Given the description of an element on the screen output the (x, y) to click on. 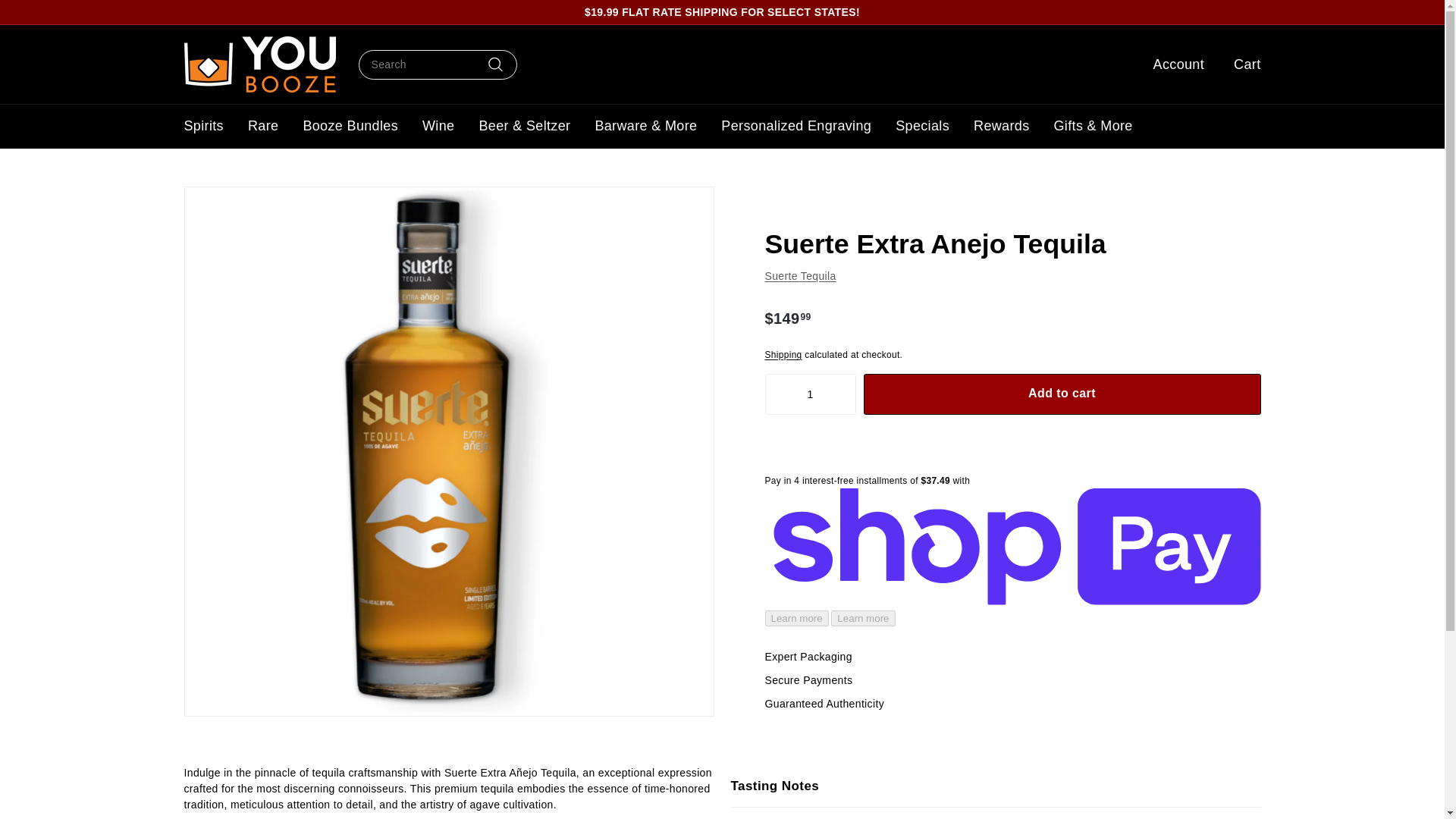
Suerte Tequila (799, 275)
Cart (1240, 64)
1 (810, 393)
Account (1173, 64)
